Given the description of an element on the screen output the (x, y) to click on. 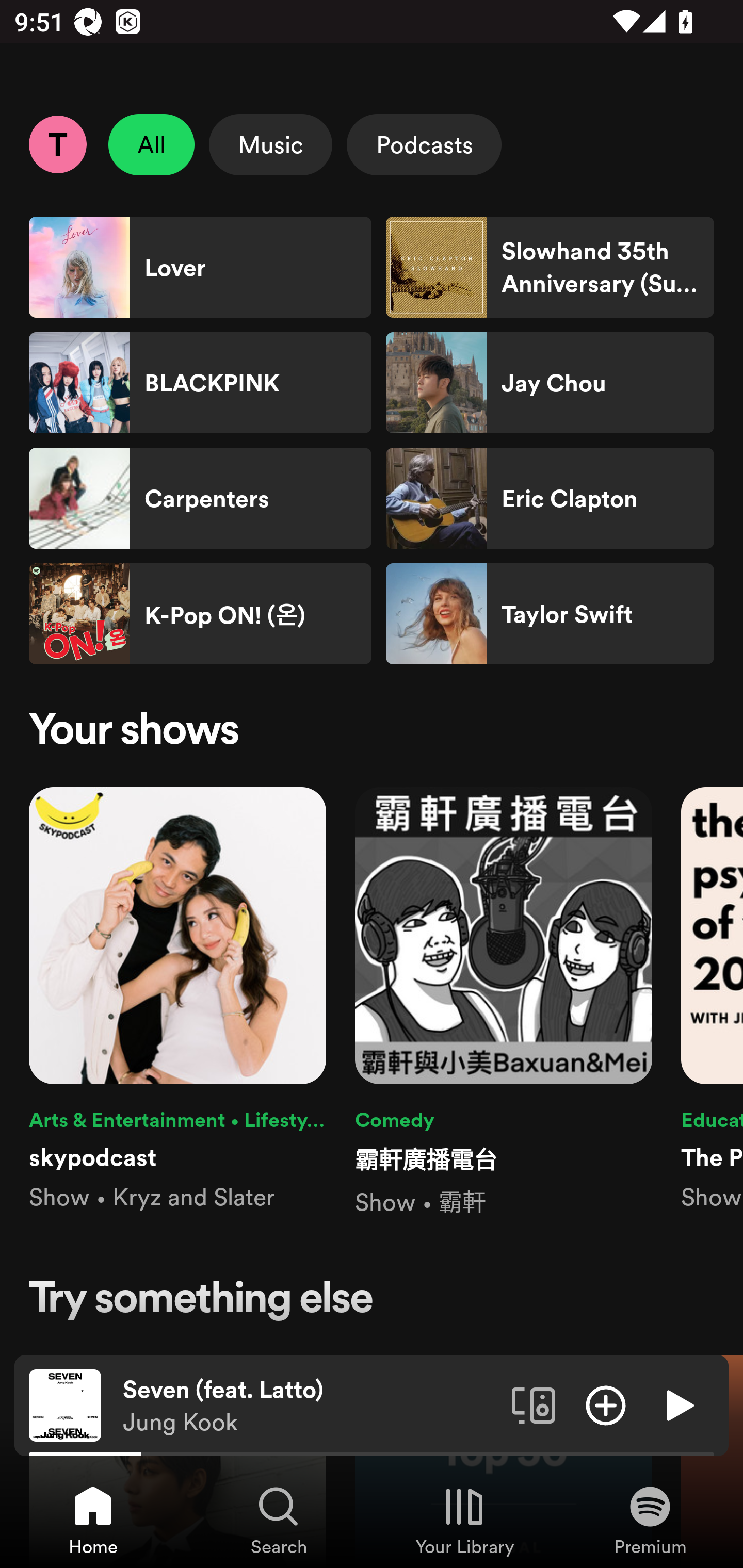
Profile (57, 144)
All Unselect All (151, 144)
Music Select Music (270, 144)
Podcasts Select Podcasts (423, 144)
Lover Shortcut Lover (199, 267)
BLACKPINK Shortcut BLACKPINK (199, 382)
Jay Chou Shortcut Jay Chou (549, 382)
Carpenters Shortcut Carpenters (199, 498)
Eric Clapton Shortcut Eric Clapton (549, 498)
K-Pop ON! (온) Shortcut K-Pop ON! (온) (199, 613)
Taylor Swift Shortcut Taylor Swift (549, 613)
Comedy 霸軒廣播電台 Show • 霸軒 (503, 1002)
Seven (feat. Latto) Jung Kook (309, 1405)
The cover art of the currently playing track (64, 1404)
Connect to a device. Opens the devices menu (533, 1404)
Add item (605, 1404)
Play (677, 1404)
Home, Tab 1 of 4 Home Home (92, 1519)
Search, Tab 2 of 4 Search Search (278, 1519)
Your Library, Tab 3 of 4 Your Library Your Library (464, 1519)
Premium, Tab 4 of 4 Premium Premium (650, 1519)
